Given the description of an element on the screen output the (x, y) to click on. 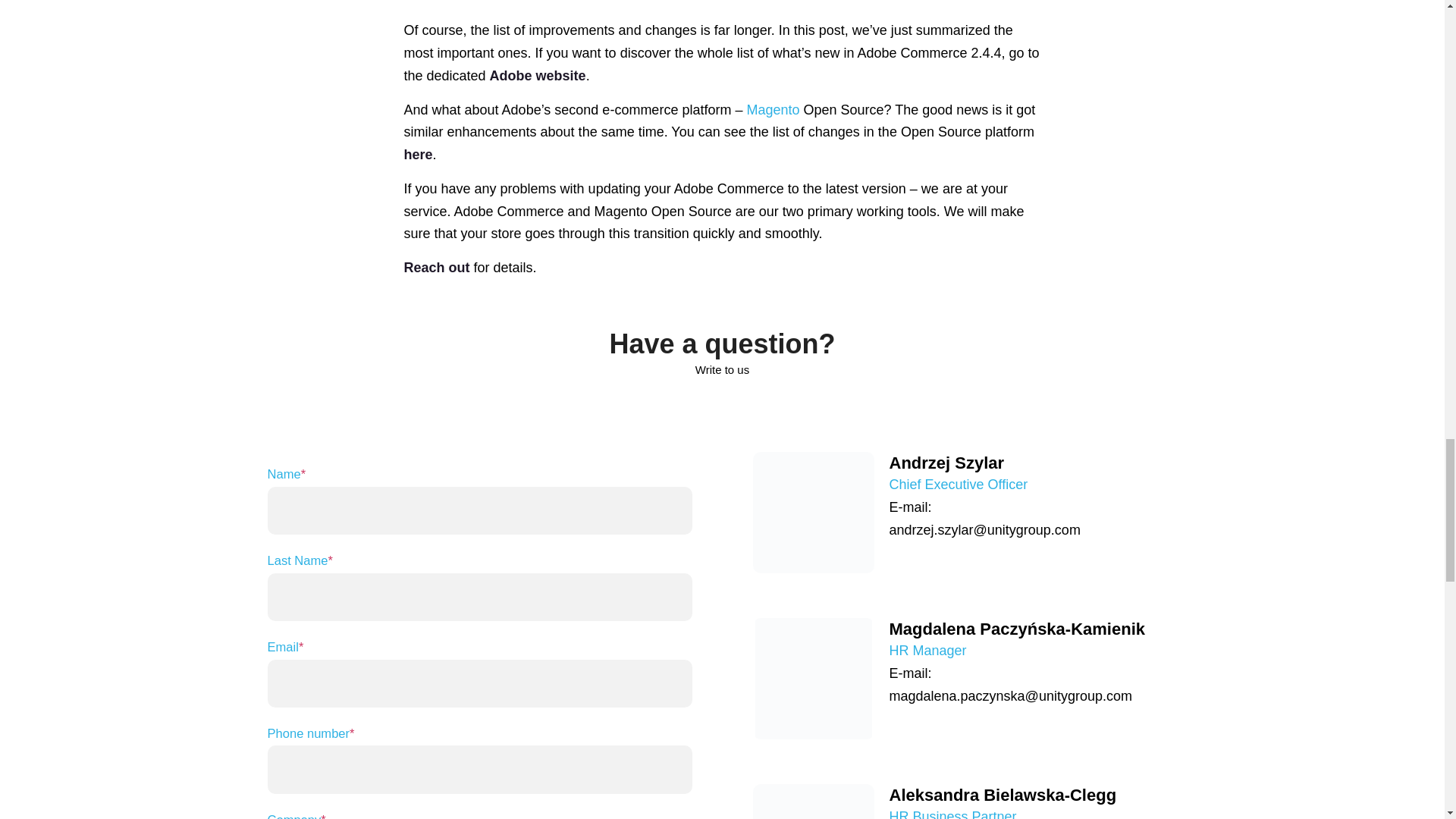
This is required (351, 733)
This is required (303, 473)
This is required (300, 646)
This is required (331, 560)
Adobe website (537, 75)
